Given the description of an element on the screen output the (x, y) to click on. 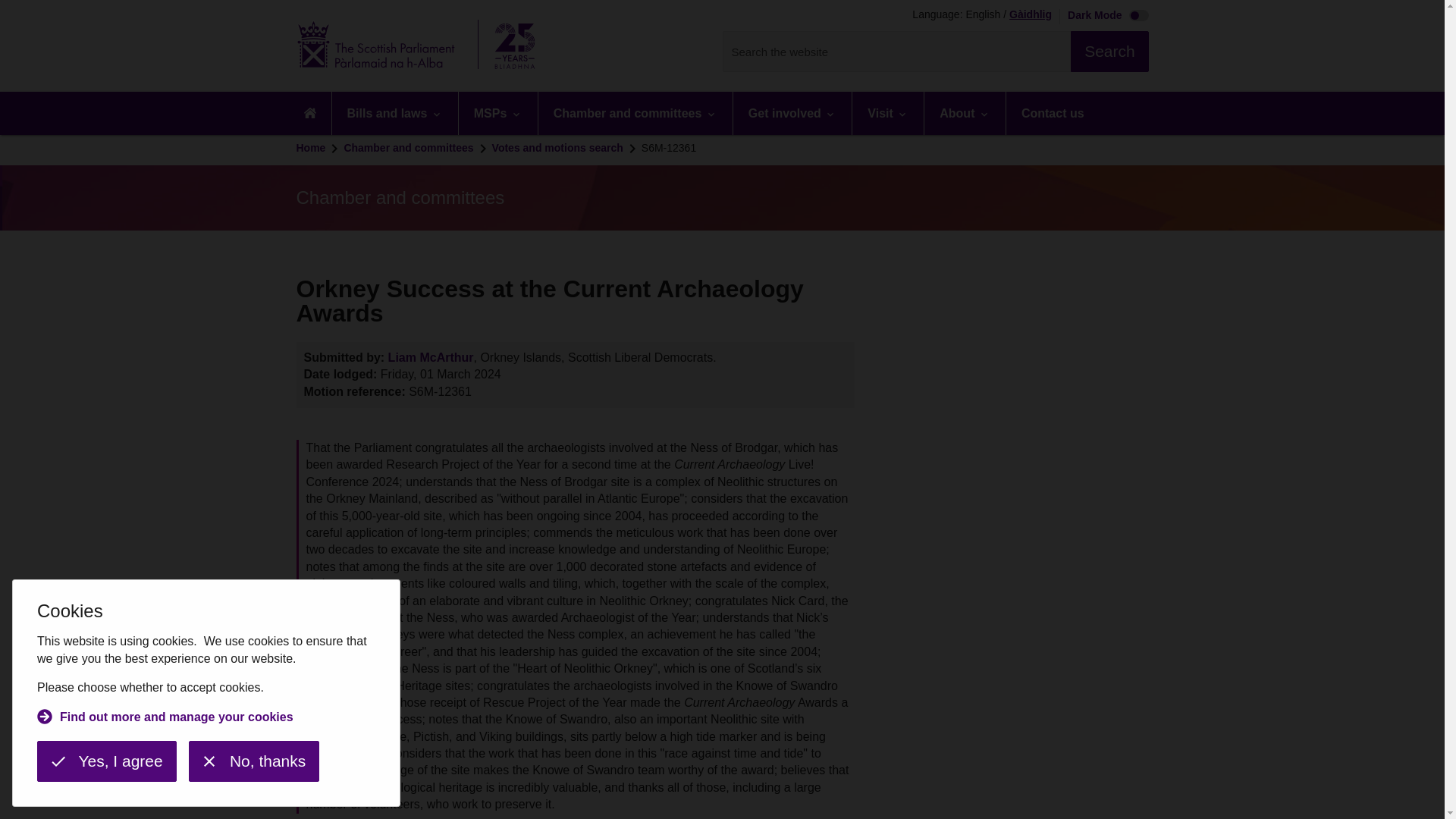
Bills and laws (394, 113)
No, thanks (252, 761)
Dark Mode (1103, 16)
Yes, I agree (106, 761)
Search (1109, 51)
Find out more and manage your cookies (165, 718)
Chamber and committees (635, 113)
Scottish Parliament Website home (419, 45)
MSPs (497, 113)
